Given the description of an element on the screen output the (x, y) to click on. 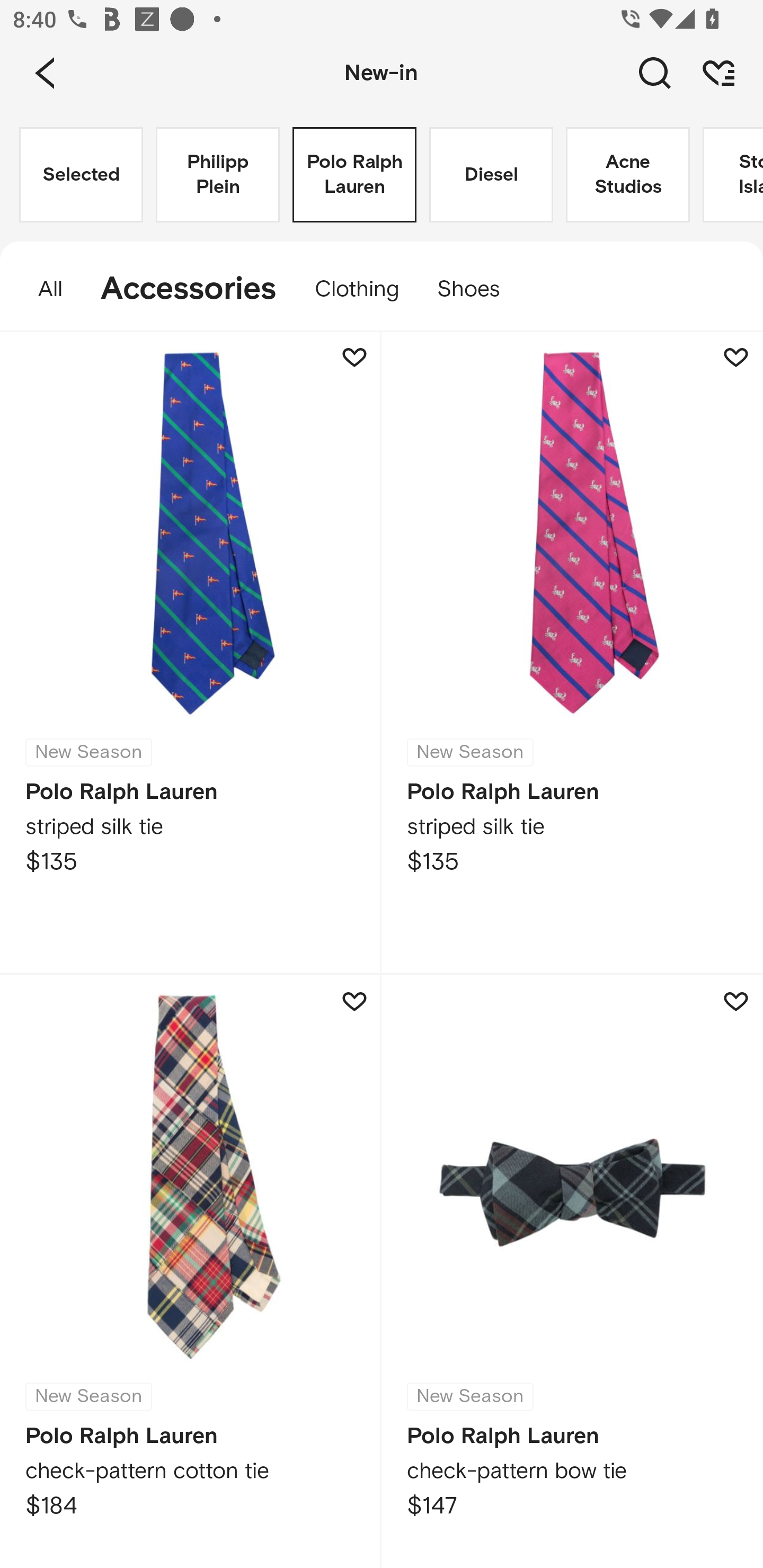
Selected (81, 174)
Philipp Plein (217, 174)
Polo Ralph Lauren (354, 174)
Diesel (490, 174)
Acne Studios (627, 174)
All (40, 288)
Accessories (188, 288)
Clothing (356, 288)
Shoes (478, 288)
New Season Polo Ralph Lauren striped silk tie $135 (190, 652)
New Season Polo Ralph Lauren striped silk tie $135 (572, 652)
